Given the description of an element on the screen output the (x, y) to click on. 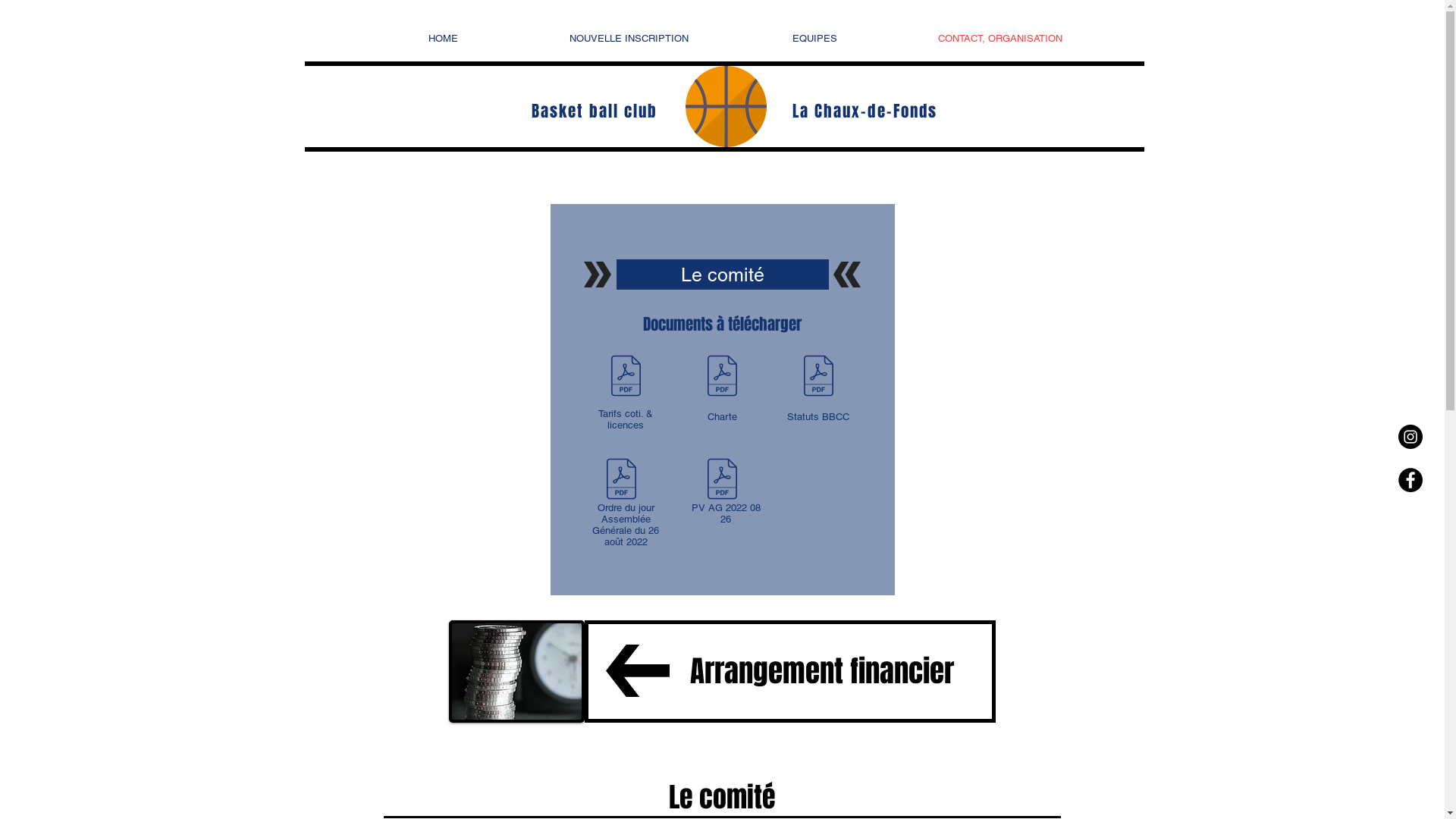
CONTACT, ORGANISATION Element type: text (999, 38)
EQUIPES Element type: text (814, 38)
NOUVELLE INSCRIPTION Element type: text (628, 38)
HOME Element type: text (443, 38)
